Given the description of an element on the screen output the (x, y) to click on. 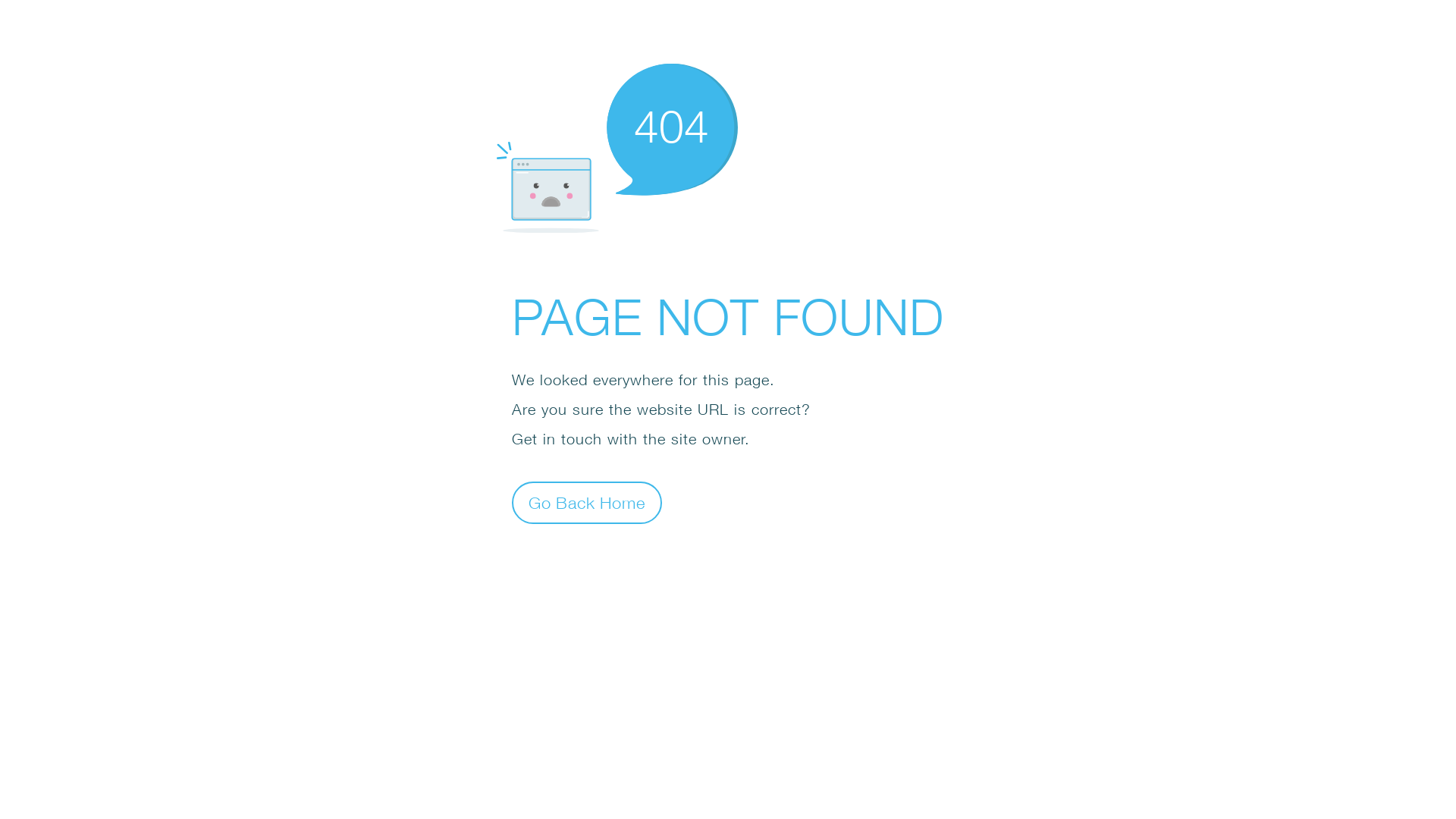
Go Back Home Element type: text (586, 502)
